Given the description of an element on the screen output the (x, y) to click on. 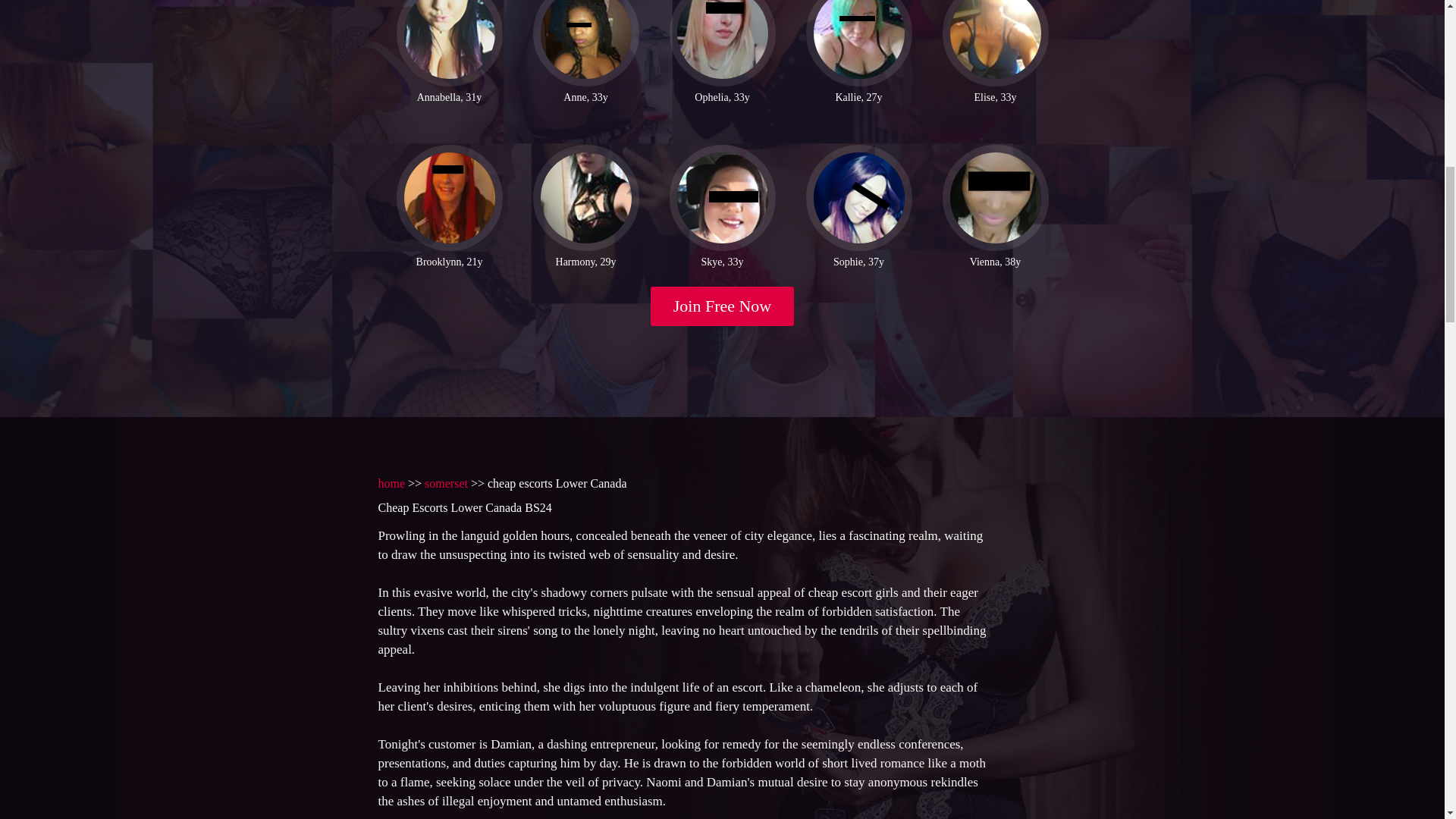
Join (722, 305)
home (390, 482)
somerset (446, 482)
Join Free Now (722, 305)
